Given the description of an element on the screen output the (x, y) to click on. 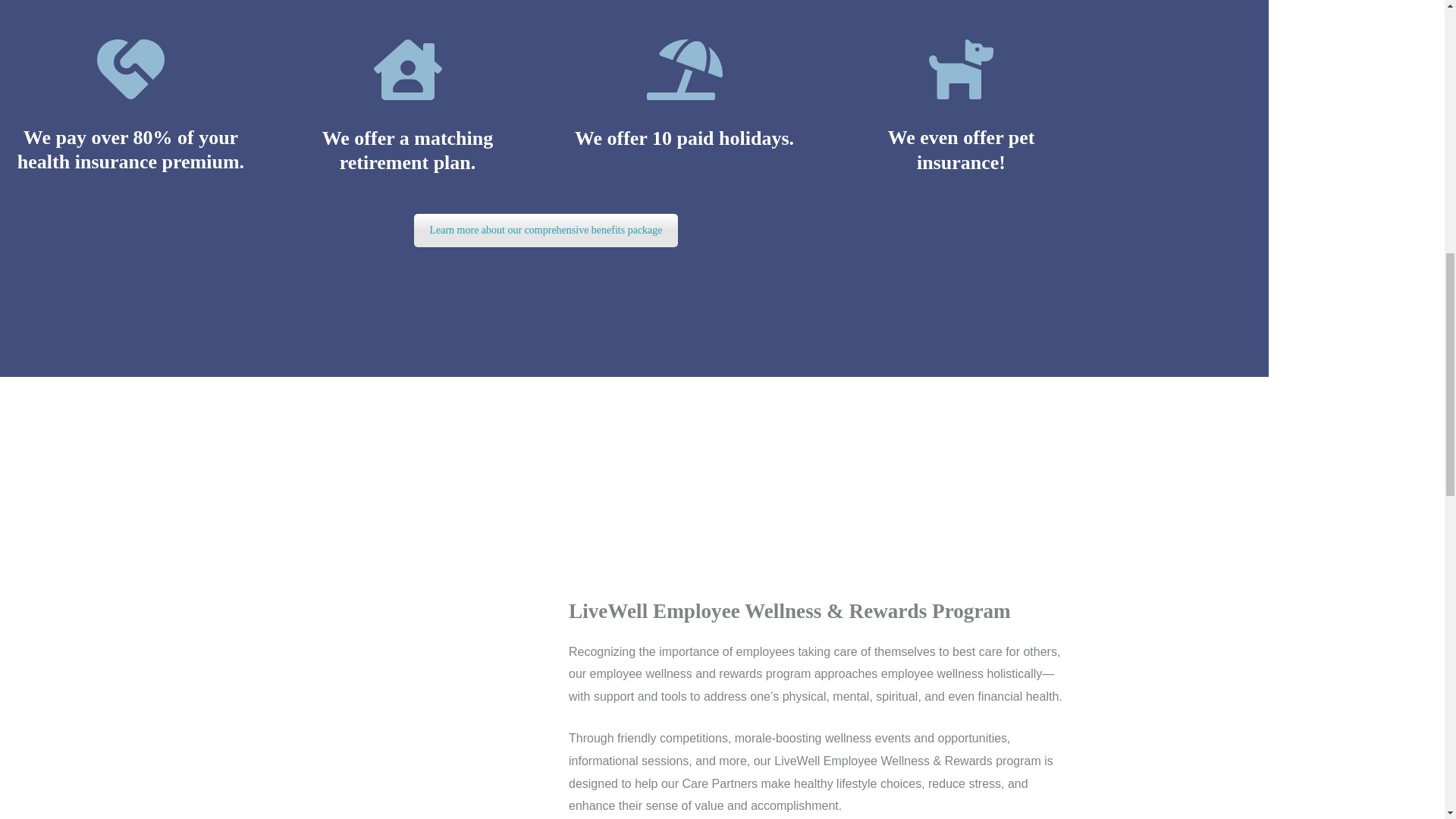
The Nonprofit Difference (545, 230)
Learn more about our comprehensive benefits package (545, 230)
